Given the description of an element on the screen output the (x, y) to click on. 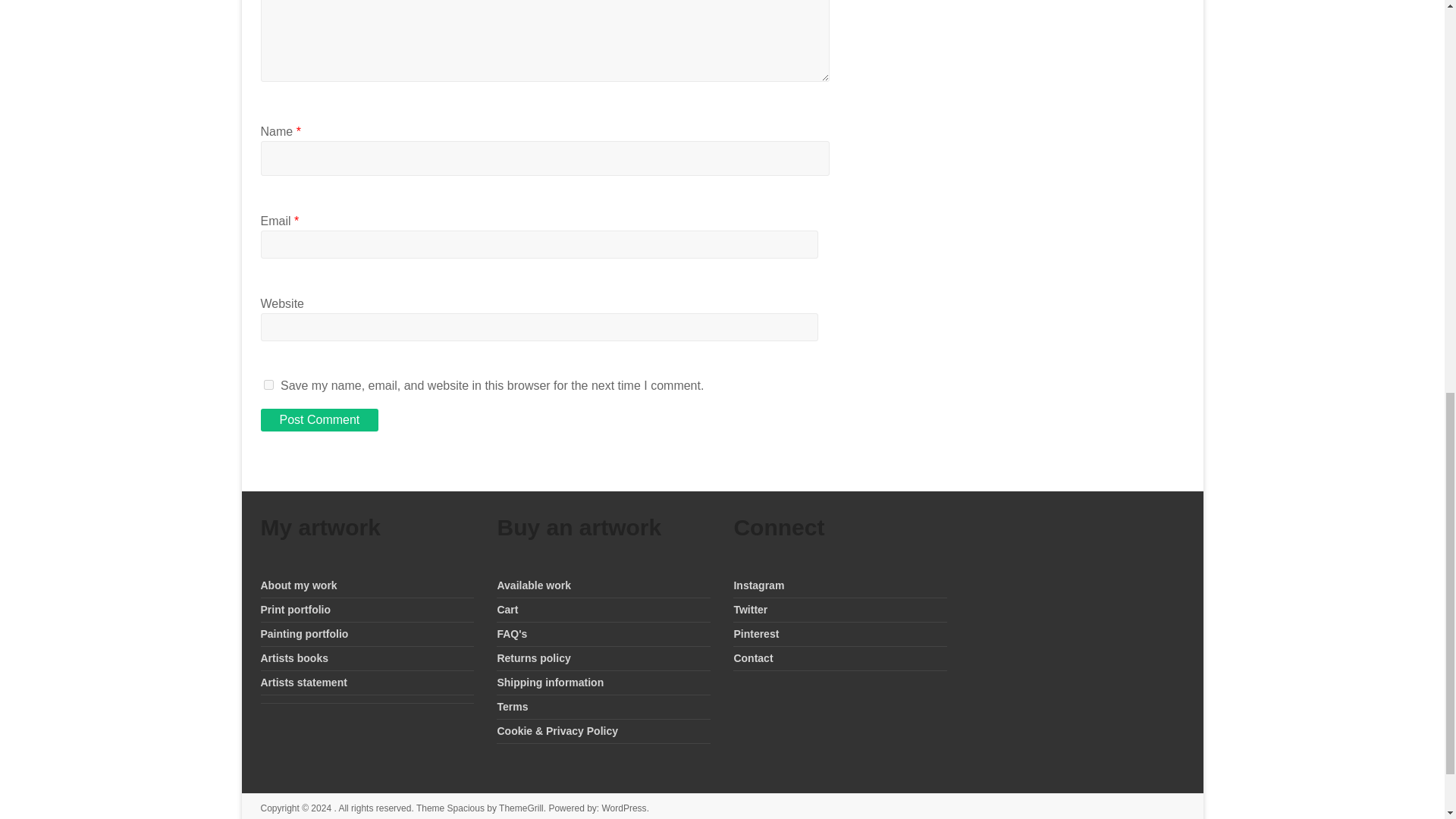
Artists books (294, 657)
Post Comment (319, 419)
Available work (533, 585)
Cart (507, 609)
About my work (298, 585)
WordPress (623, 808)
Spacious (465, 808)
Painting portfolio (304, 633)
Post Comment (319, 419)
yes (268, 384)
Artists statement (303, 682)
Print portfolio (295, 609)
